Given the description of an element on the screen output the (x, y) to click on. 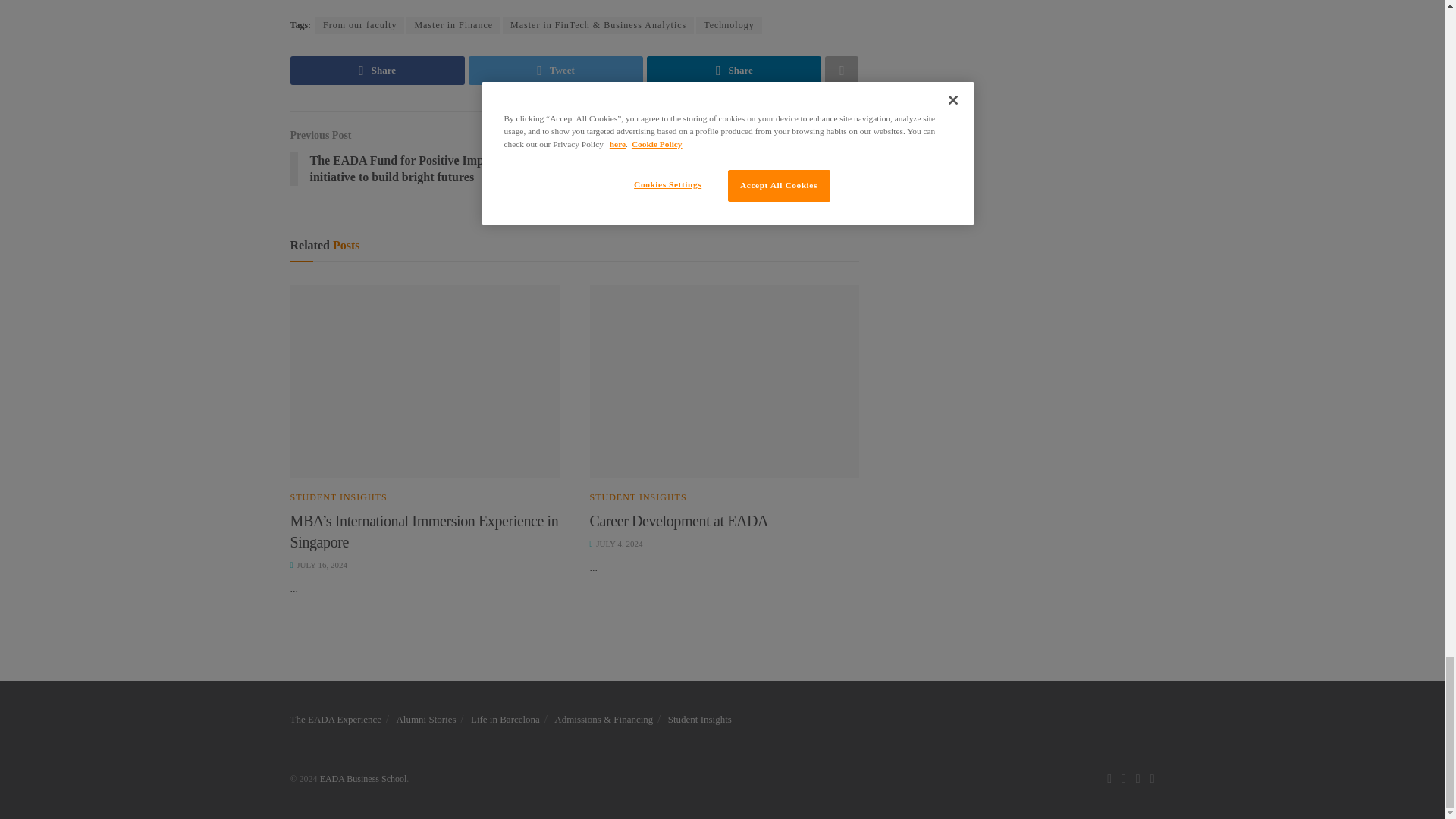
From our faculty (359, 25)
EADA Business School (363, 778)
Technology (728, 25)
Master in Finance (453, 25)
